Given the description of an element on the screen output the (x, y) to click on. 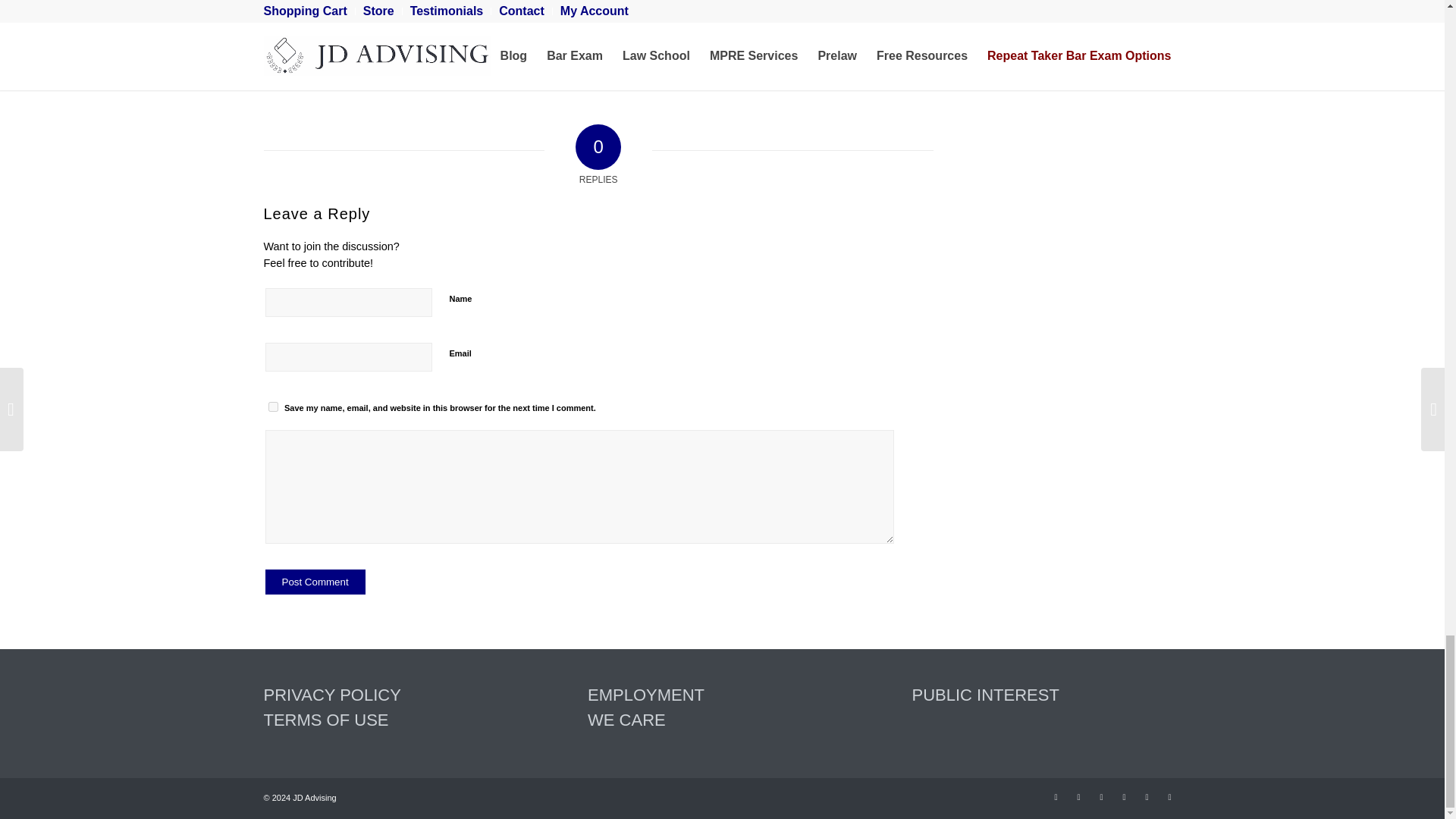
Post Comment (314, 581)
What is the NextGen Bar Exam? (577, 38)
Failed with Barbri or Themis: What Should I Do Differently? (787, 21)
How Do I Feel More Confident Before the Bar Exam? (367, 38)
Pinterest (1101, 796)
X (1078, 796)
confident before the bar exam (367, 38)
yes (272, 406)
What is the NextGen Bar Exam (577, 38)
Facebook (1056, 796)
